Given the description of an element on the screen output the (x, y) to click on. 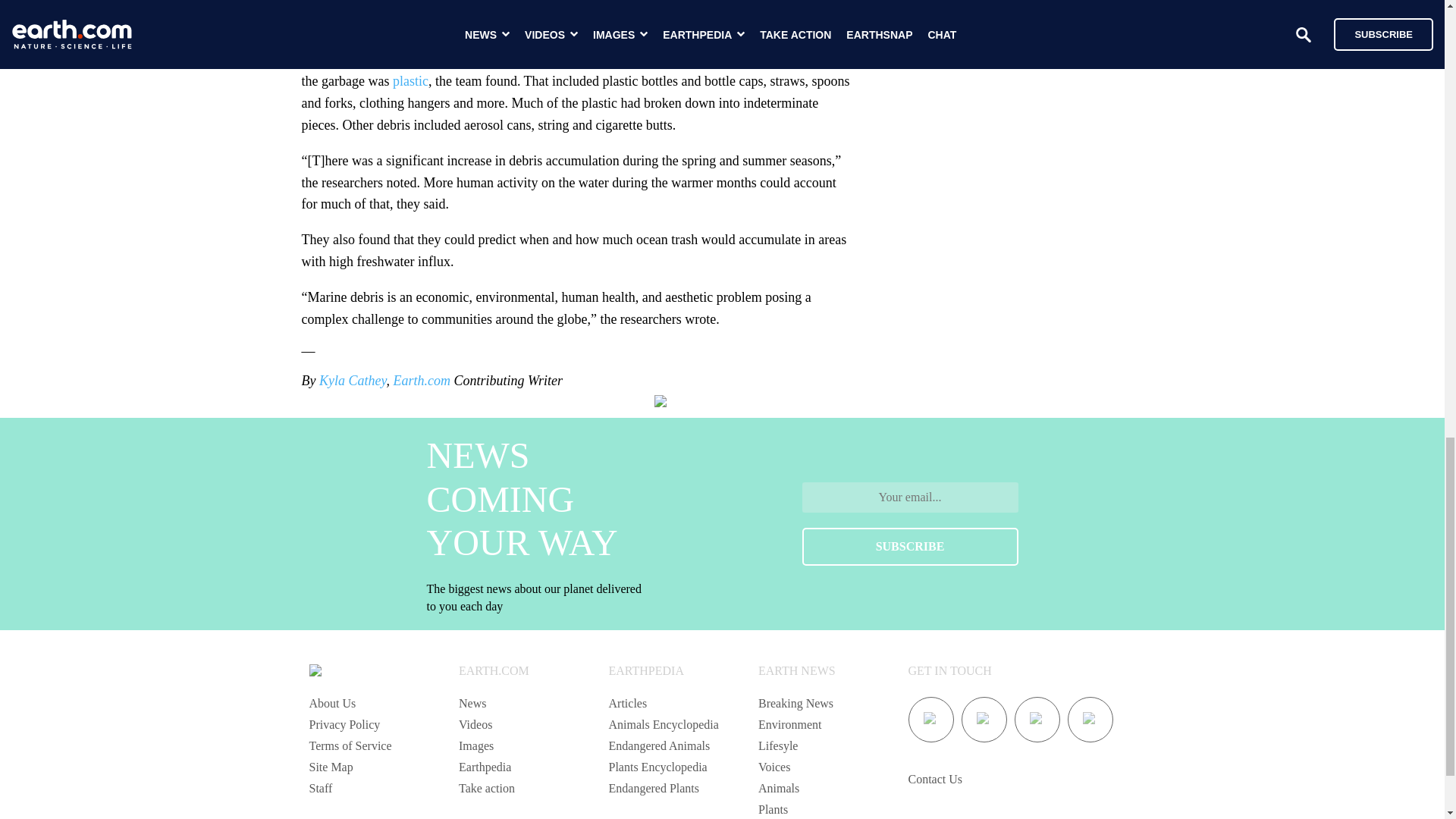
Kyla Cathey (352, 380)
Earth.com (421, 380)
plastic (410, 80)
